Given the description of an element on the screen output the (x, y) to click on. 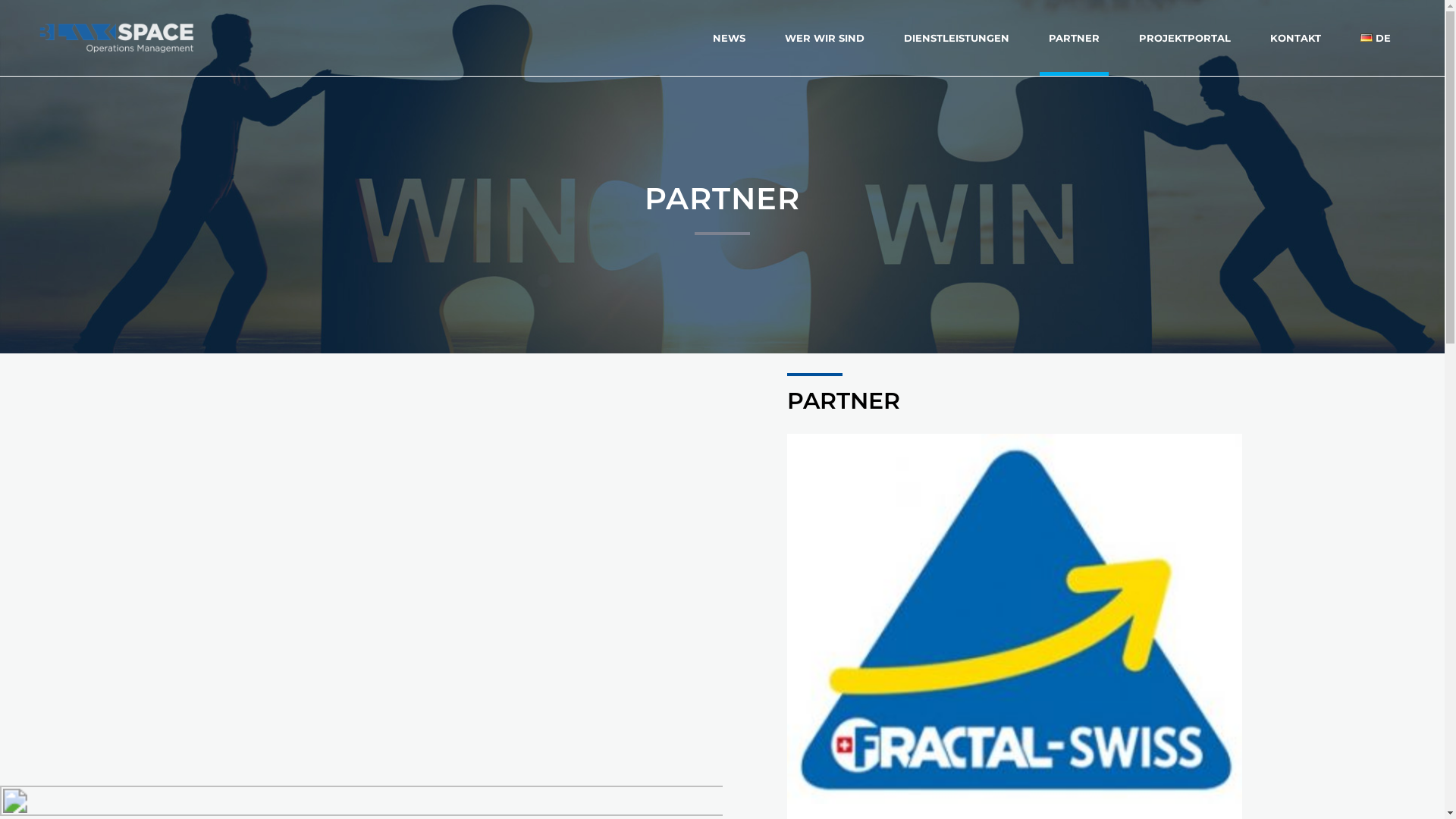
NEWS Element type: text (728, 37)
vnl Element type: hover (507, 656)
Staufen Element type: hover (507, 464)
PROJEKTPORTAL Element type: text (1184, 37)
Meta beratung Element type: hover (500, 754)
Fractal_swiss Element type: hover (507, 308)
DIENSTLEISTUNGEN Element type: text (956, 37)
PARTNER Element type: text (1073, 37)
DE Element type: text (1375, 37)
Blank_Space-partenaires Element type: hover (180, 505)
KONTAKT Element type: text (1295, 37)
WER WIR SIND Element type: text (824, 37)
Staufen digital Element type: hover (507, 566)
